Given the description of an element on the screen output the (x, y) to click on. 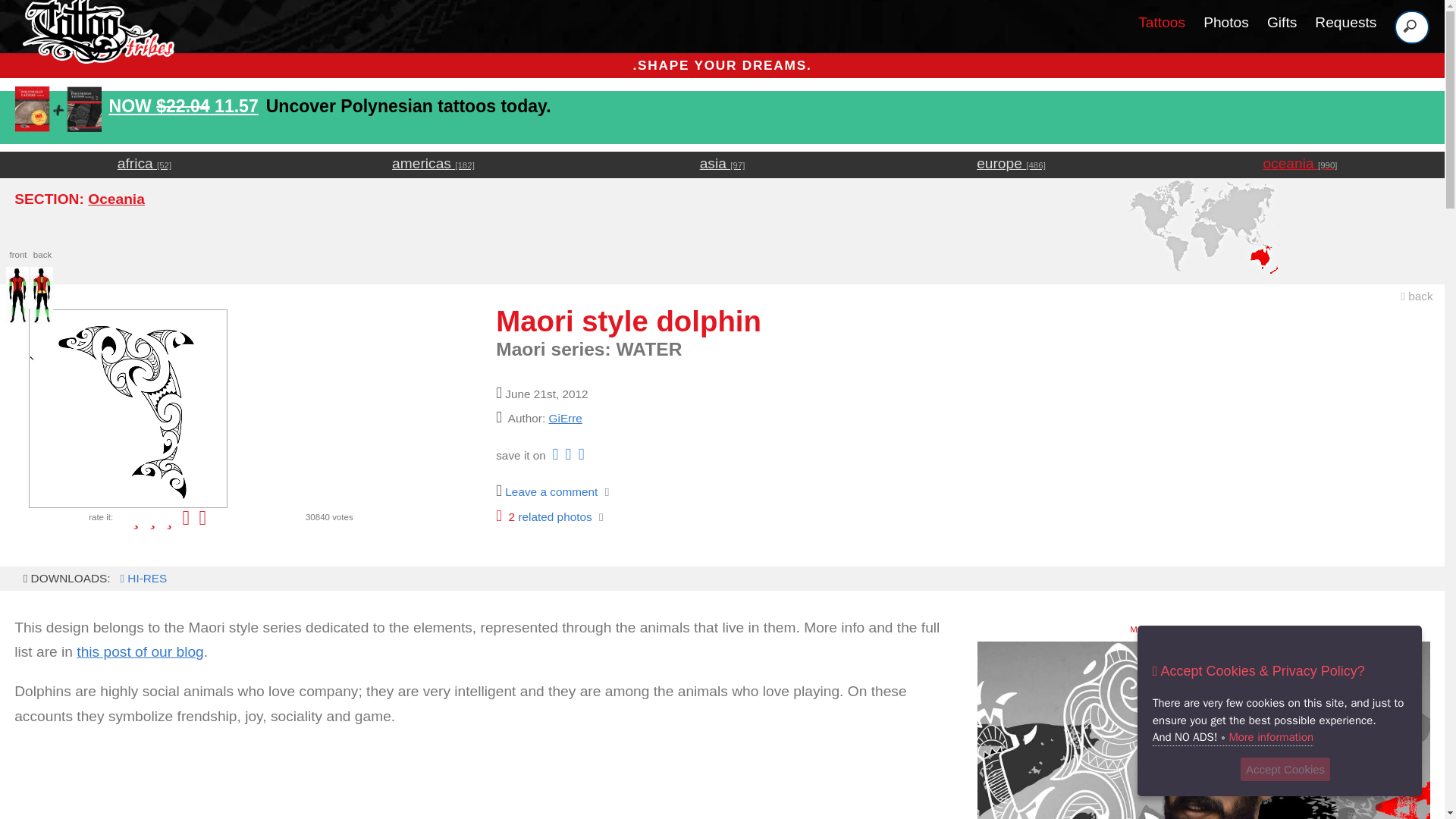
Tattoos (1161, 22)
  HI-RES (141, 577)
WATER: Maori dolphin tattoo flash (141, 577)
Read the comments on this tattoo (546, 491)
Maori series - WATER (140, 651)
Oceania (1202, 730)
Home (115, 198)
this post of our blog (94, 53)
Photos (140, 651)
MANA ATUA - Maori lizard tattoo tshirt (1226, 22)
  2 related photos (1202, 730)
 Leave a comment (544, 516)
Requests (546, 491)
GiErre (1344, 22)
